Given the description of an element on the screen output the (x, y) to click on. 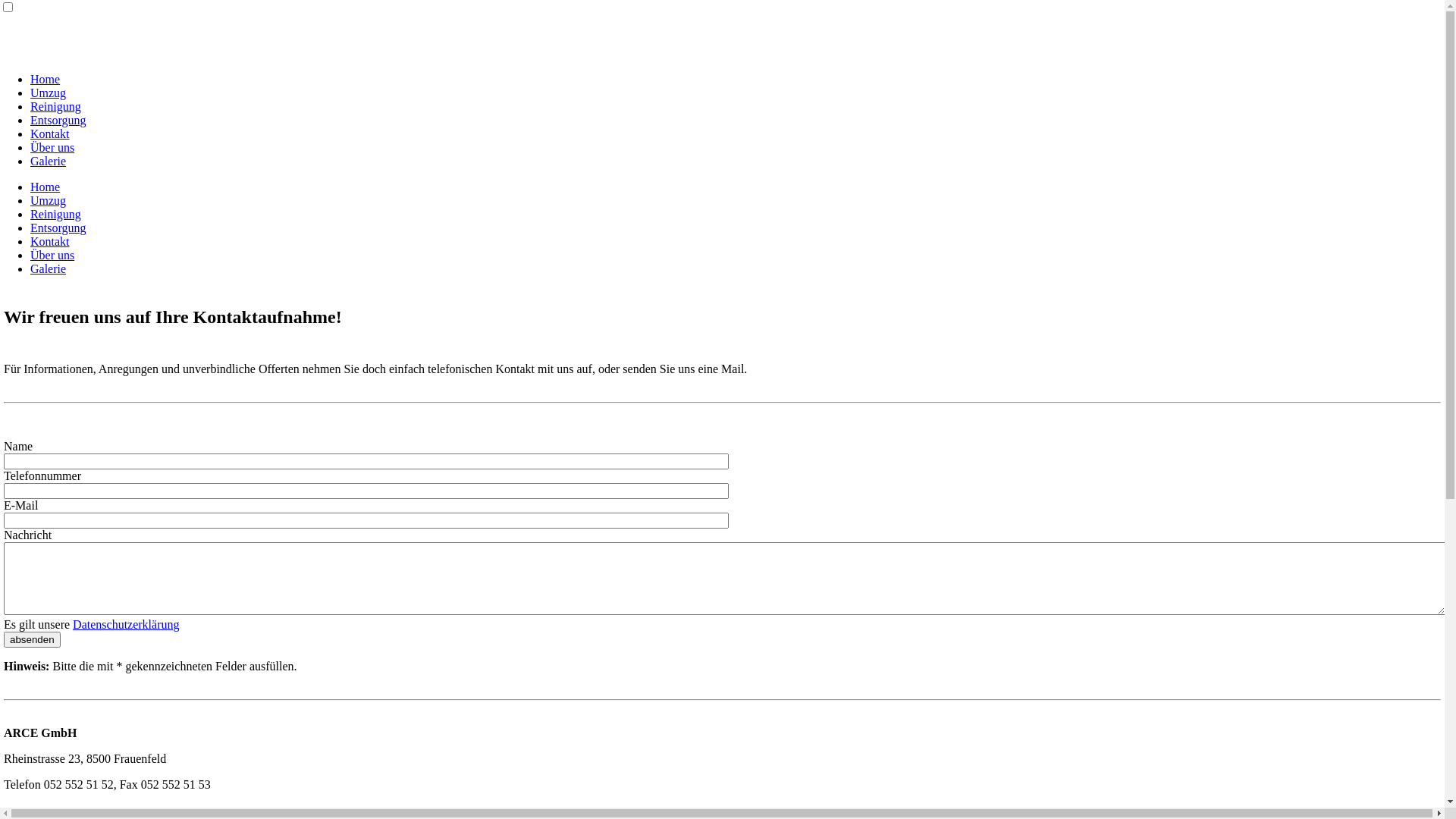
Kontakt Element type: text (49, 133)
Entsorgung Element type: text (57, 119)
Home Element type: text (44, 186)
Galerie Element type: text (47, 268)
Reinigung Element type: text (55, 213)
Home Element type: text (44, 78)
absenden Element type: text (31, 639)
Galerie Element type: text (47, 160)
Umzug Element type: text (47, 92)
Kontakt Element type: text (49, 241)
Umzug Element type: text (47, 200)
Entsorgung Element type: text (57, 227)
Reinigung Element type: text (55, 106)
